Given the description of an element on the screen output the (x, y) to click on. 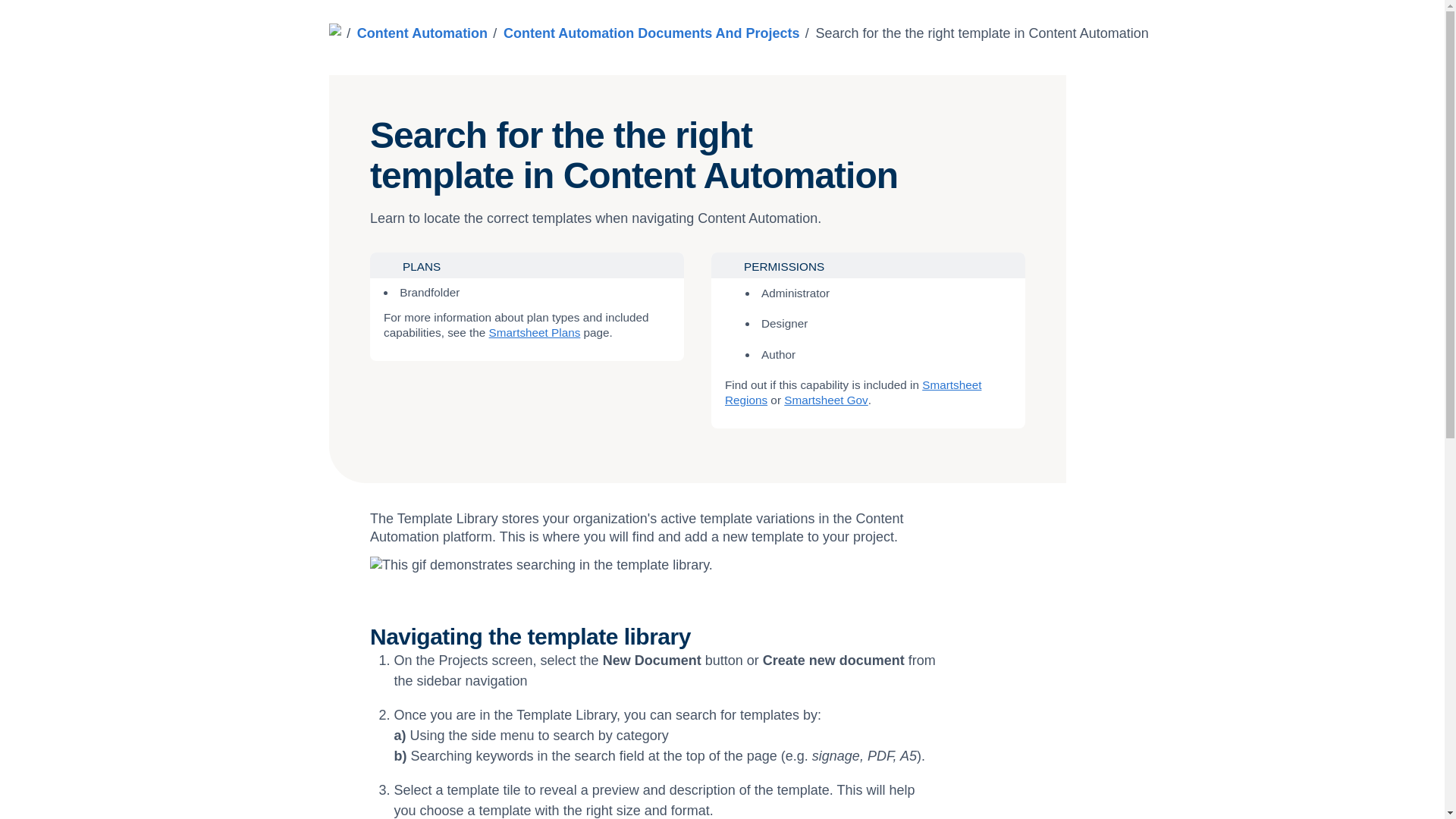
Content Automation (421, 32)
Content Automation Documents And Projects (651, 32)
